Given the description of an element on the screen output the (x, y) to click on. 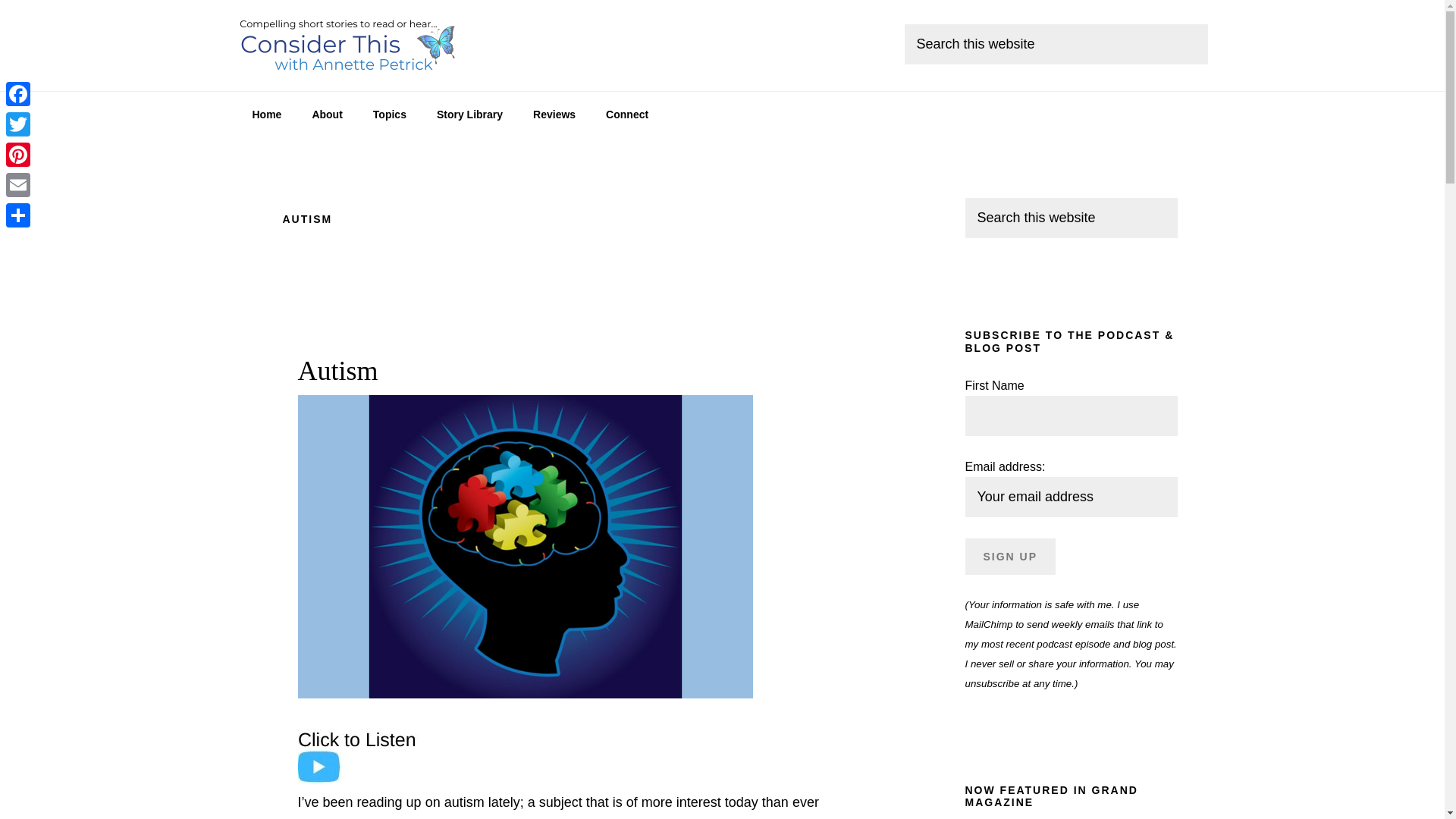
CONSIDER THIS with Annette Petrick (349, 45)
Reviews (554, 114)
Home (266, 114)
Sign up (1009, 556)
Topics (390, 114)
Play (363, 780)
Twitter (17, 123)
Connect (627, 114)
Play (363, 756)
Sign up (1009, 556)
